Given the description of an element on the screen output the (x, y) to click on. 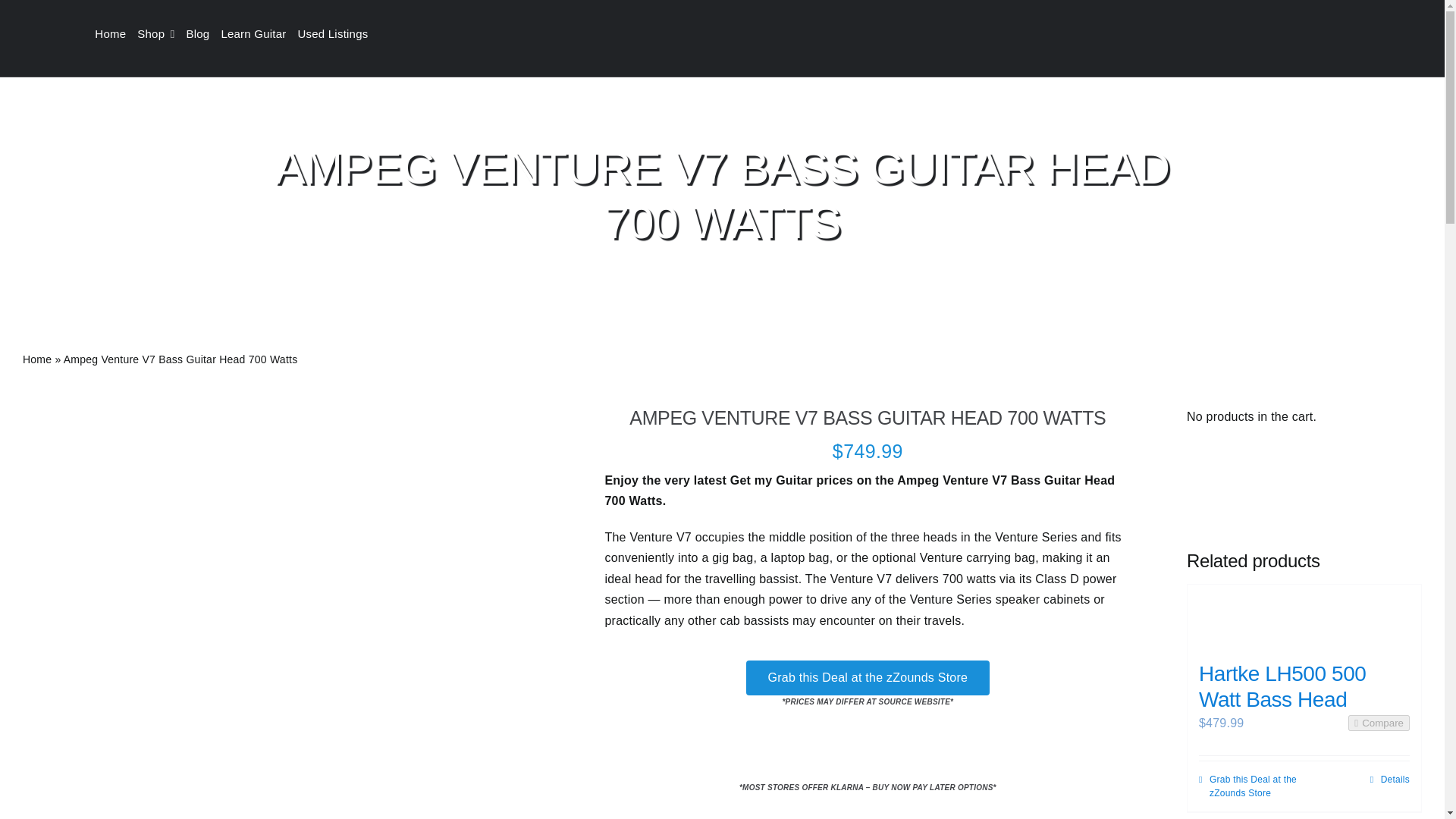
Shop (161, 34)
Get my Guitar Logo (721, 34)
Learn Guitar (259, 34)
Blog (203, 34)
Used Listings (337, 34)
Home (115, 34)
Home (36, 358)
Hartke LH500 500 Watt Bass Head (1304, 615)
Grab this Deal at the zZounds Store (867, 677)
klarna badge (867, 752)
